Given the description of an element on the screen output the (x, y) to click on. 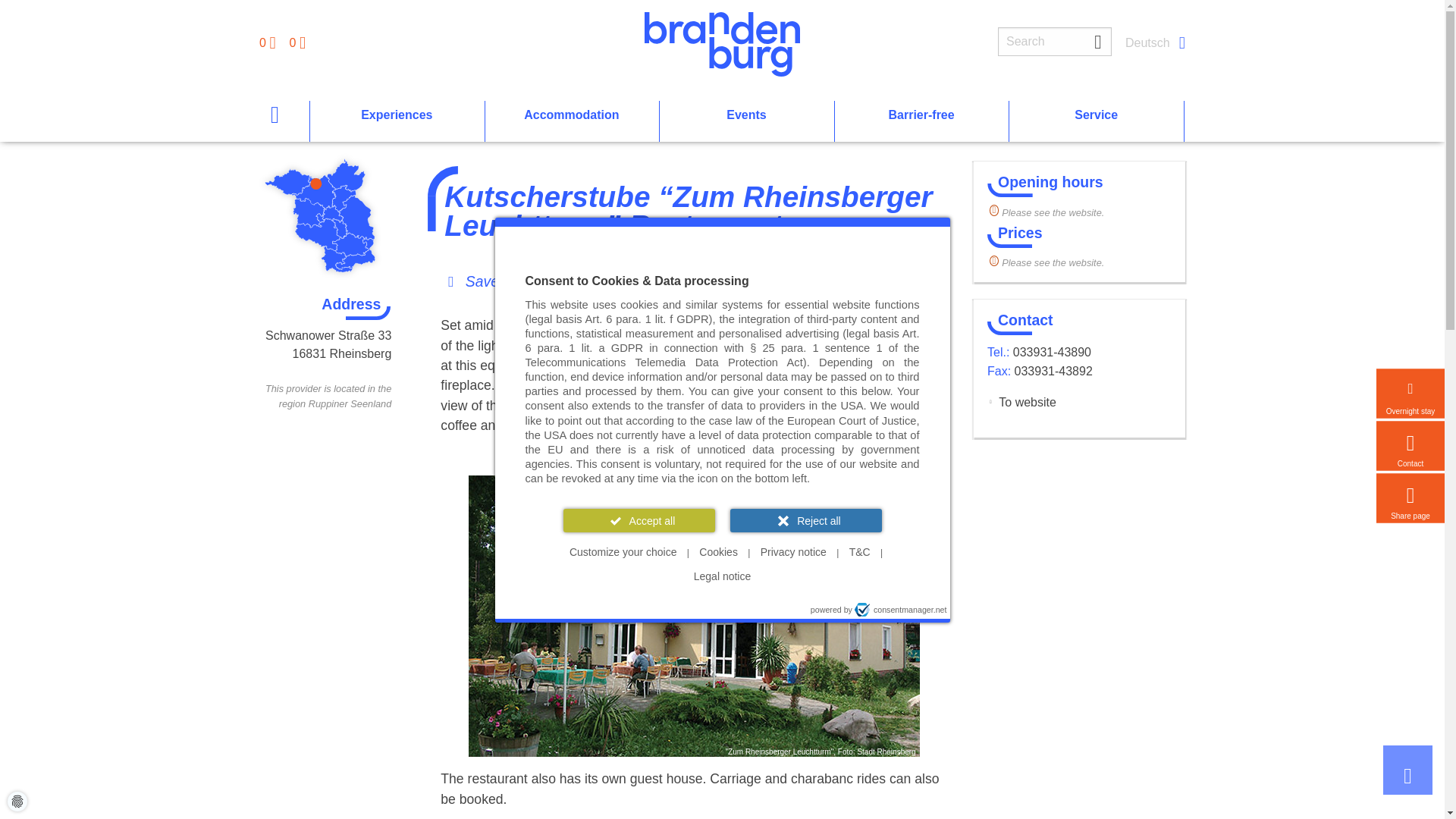
Privacy notice (793, 551)
Reject all (804, 520)
Legal notice (721, 576)
Customize your choice (623, 551)
Cookies (718, 551)
Accept all (638, 520)
consentmanager.net (900, 609)
